Given the description of an element on the screen output the (x, y) to click on. 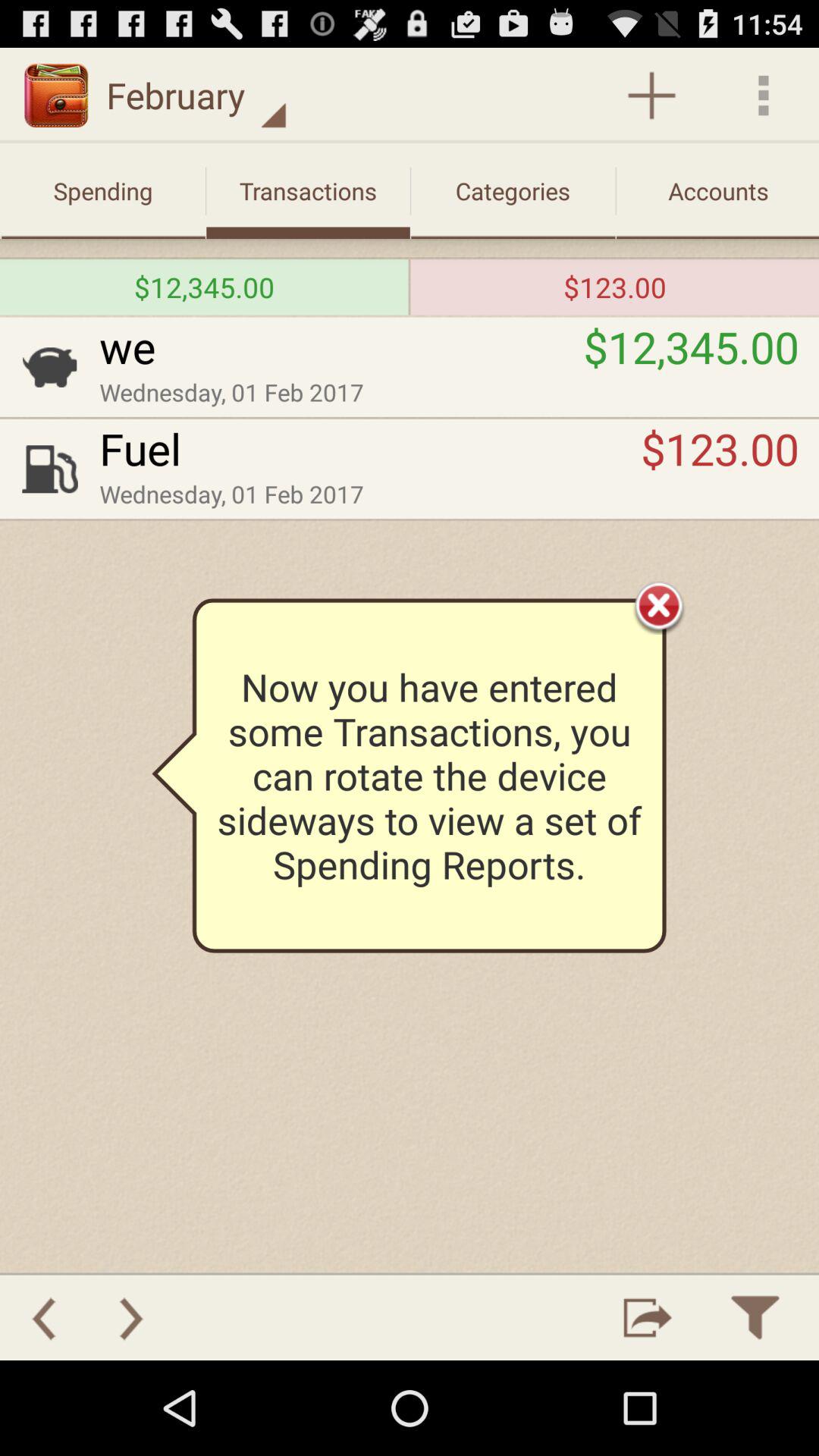
choose app below the $123.00 icon (659, 605)
